Given the description of an element on the screen output the (x, y) to click on. 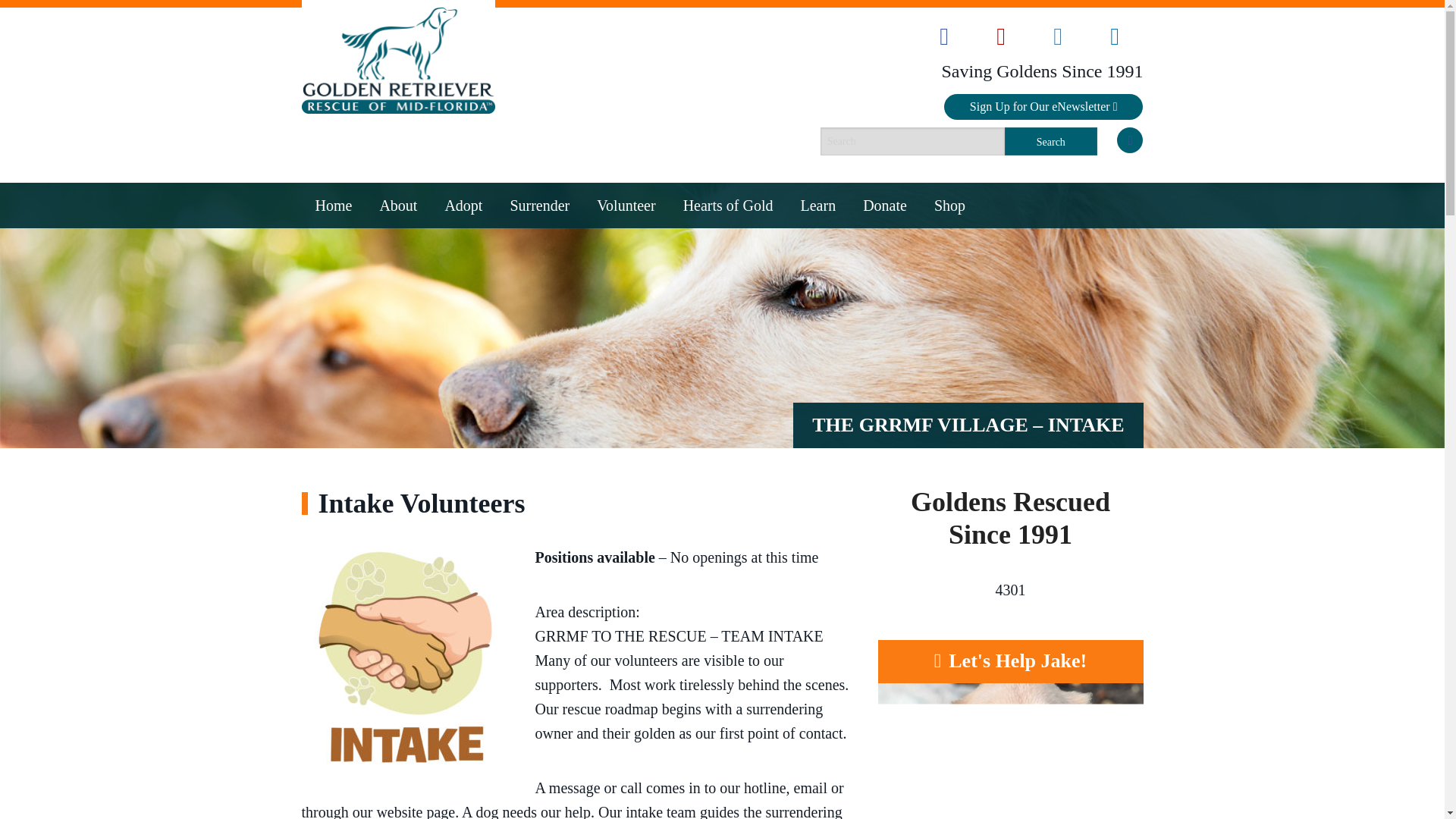
GRRMF Mission Statement (397, 273)
Search (1050, 141)
Our GRRMF Village (625, 304)
Sign Up for Our eNewsletter (1042, 106)
Available Goldens (463, 243)
Surrender Your Golden (539, 243)
Why Adopt A Rescue (463, 334)
Surrender (539, 205)
How To Adopt (463, 304)
Success Stories (463, 425)
